Given the description of an element on the screen output the (x, y) to click on. 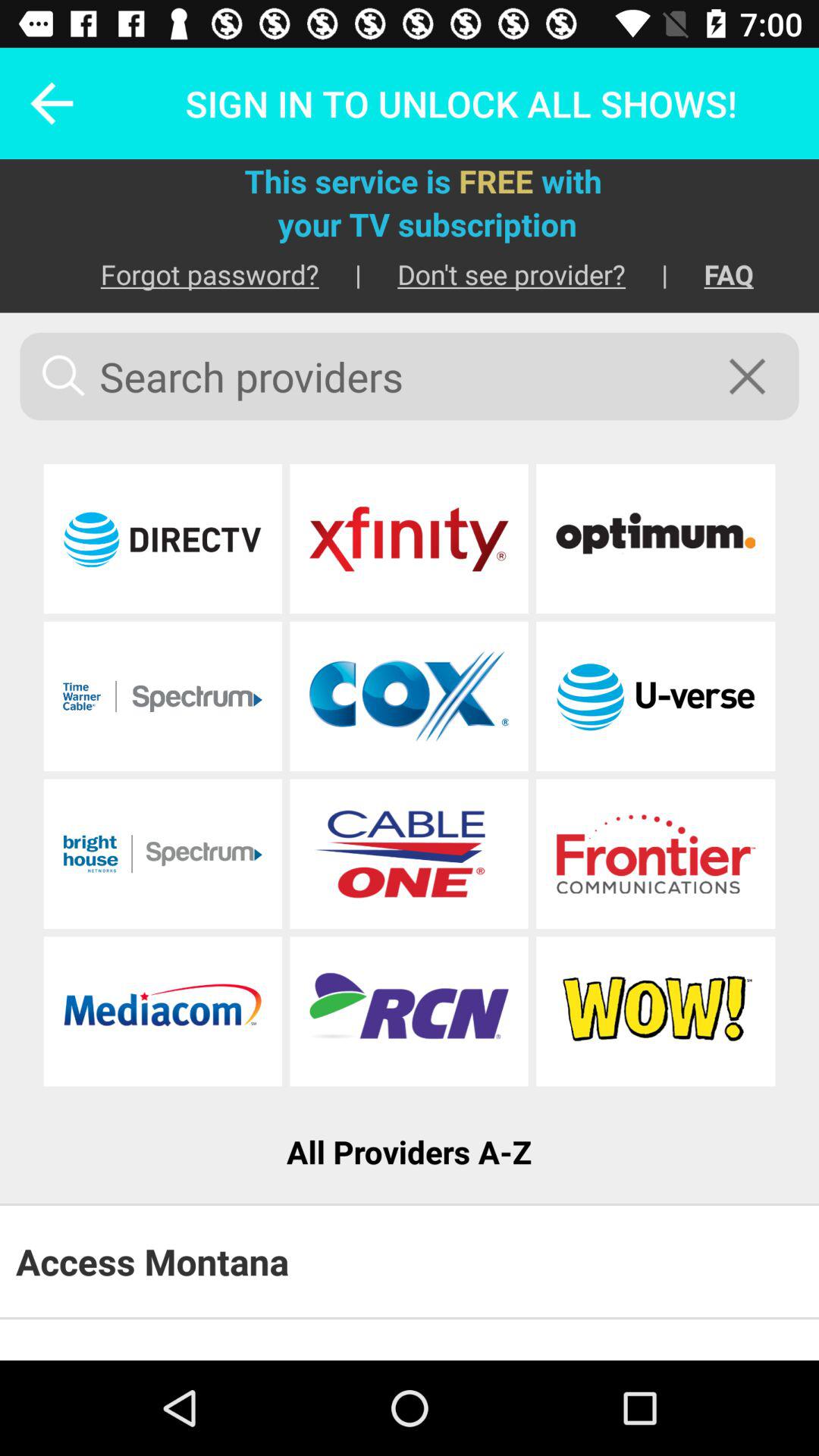
connect to directv account (162, 538)
